Given the description of an element on the screen output the (x, y) to click on. 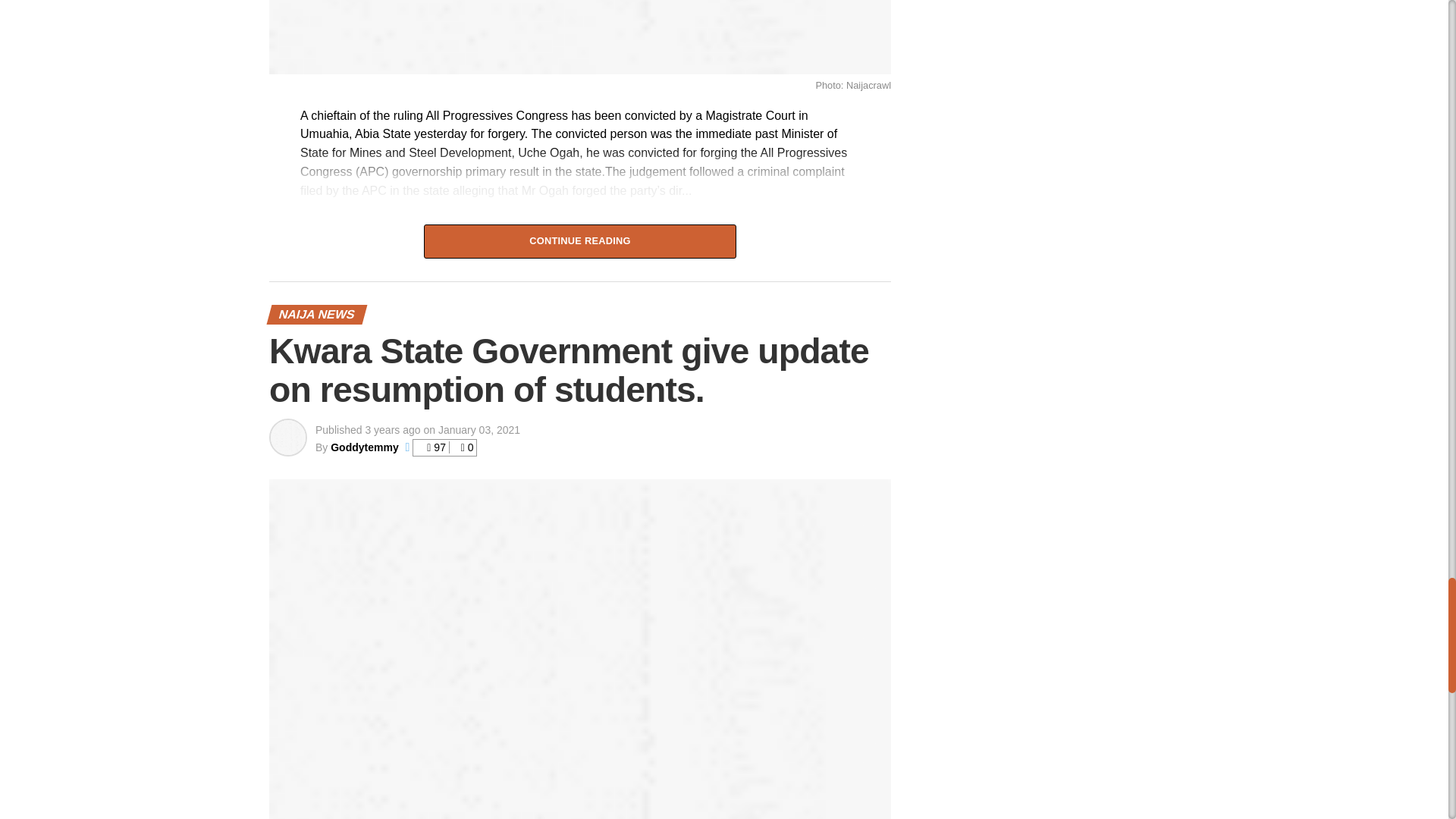
Posts by Goddytemmy (363, 447)
